Given the description of an element on the screen output the (x, y) to click on. 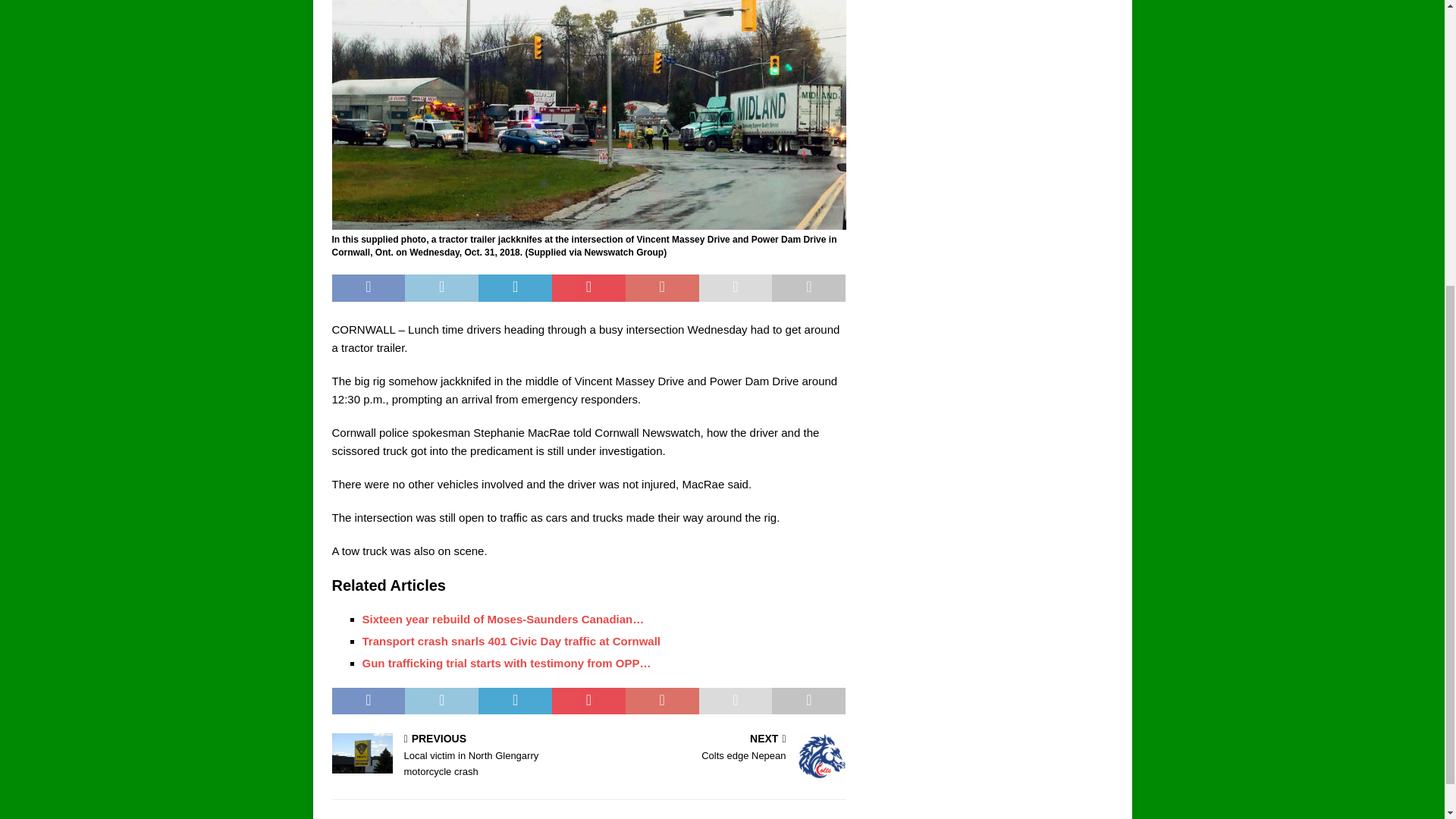
Jackknifed Tractor Trailer Oct3118 E (720, 748)
Transport crash snarls 401 Civic Day traffic at Cornwall (588, 115)
